Given the description of an element on the screen output the (x, y) to click on. 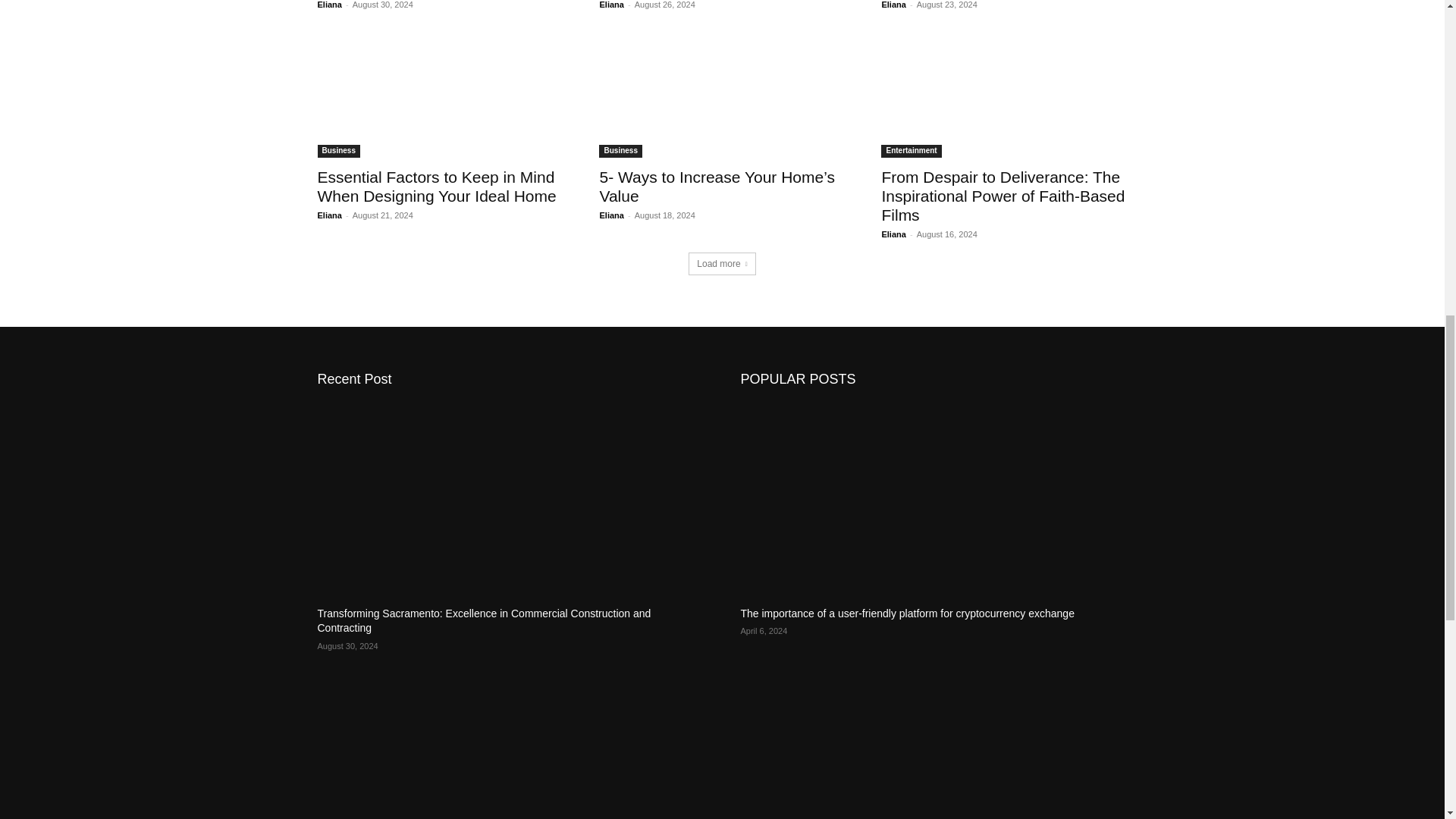
Business (338, 151)
Eliana (892, 4)
Eliana (610, 4)
Eliana (328, 4)
